Given the description of an element on the screen output the (x, y) to click on. 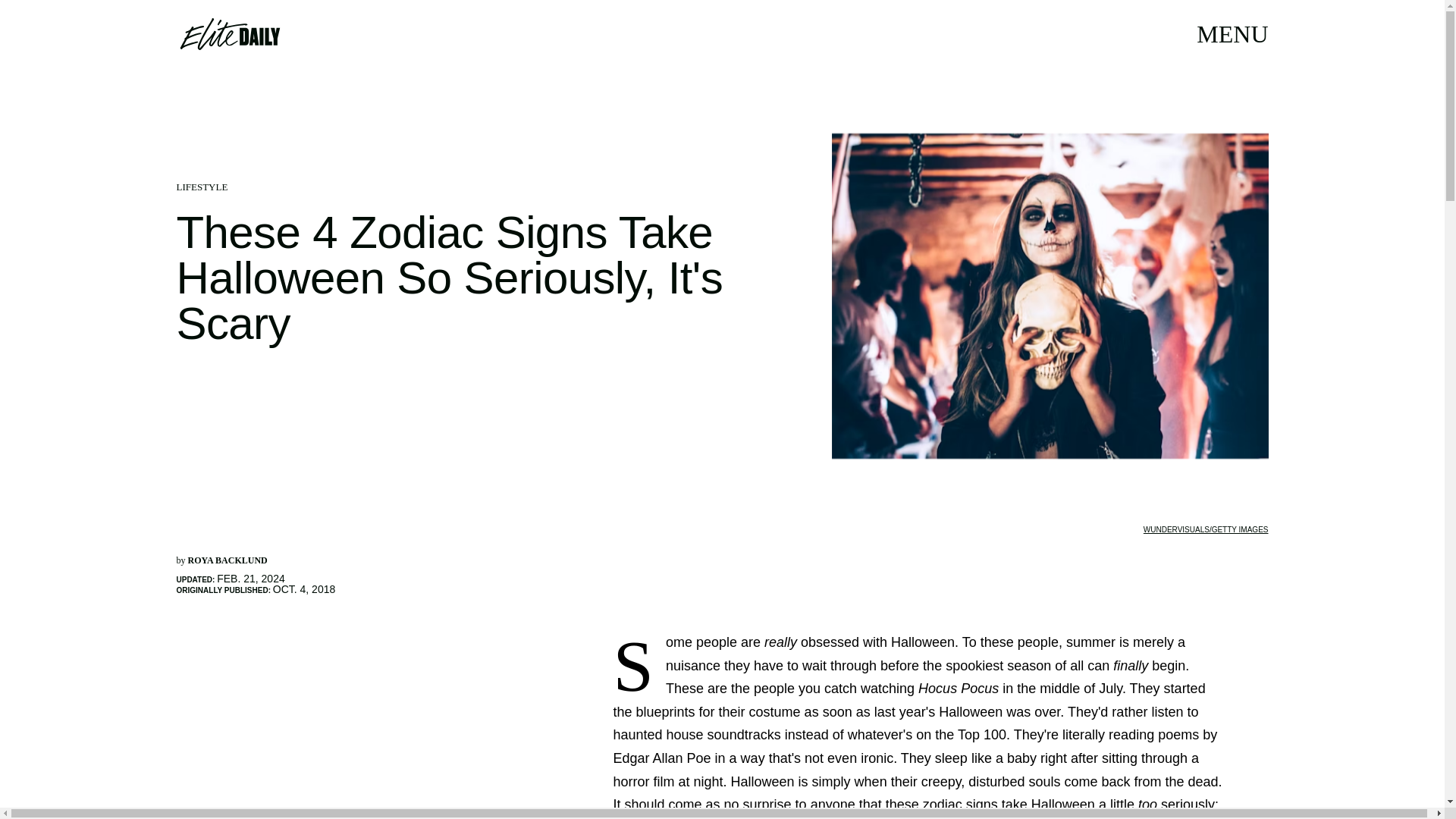
these zodiac signs take Halloween a little too seriously (1049, 805)
ROYA BACKLUND (227, 560)
Elite Daily (229, 33)
